Given the description of an element on the screen output the (x, y) to click on. 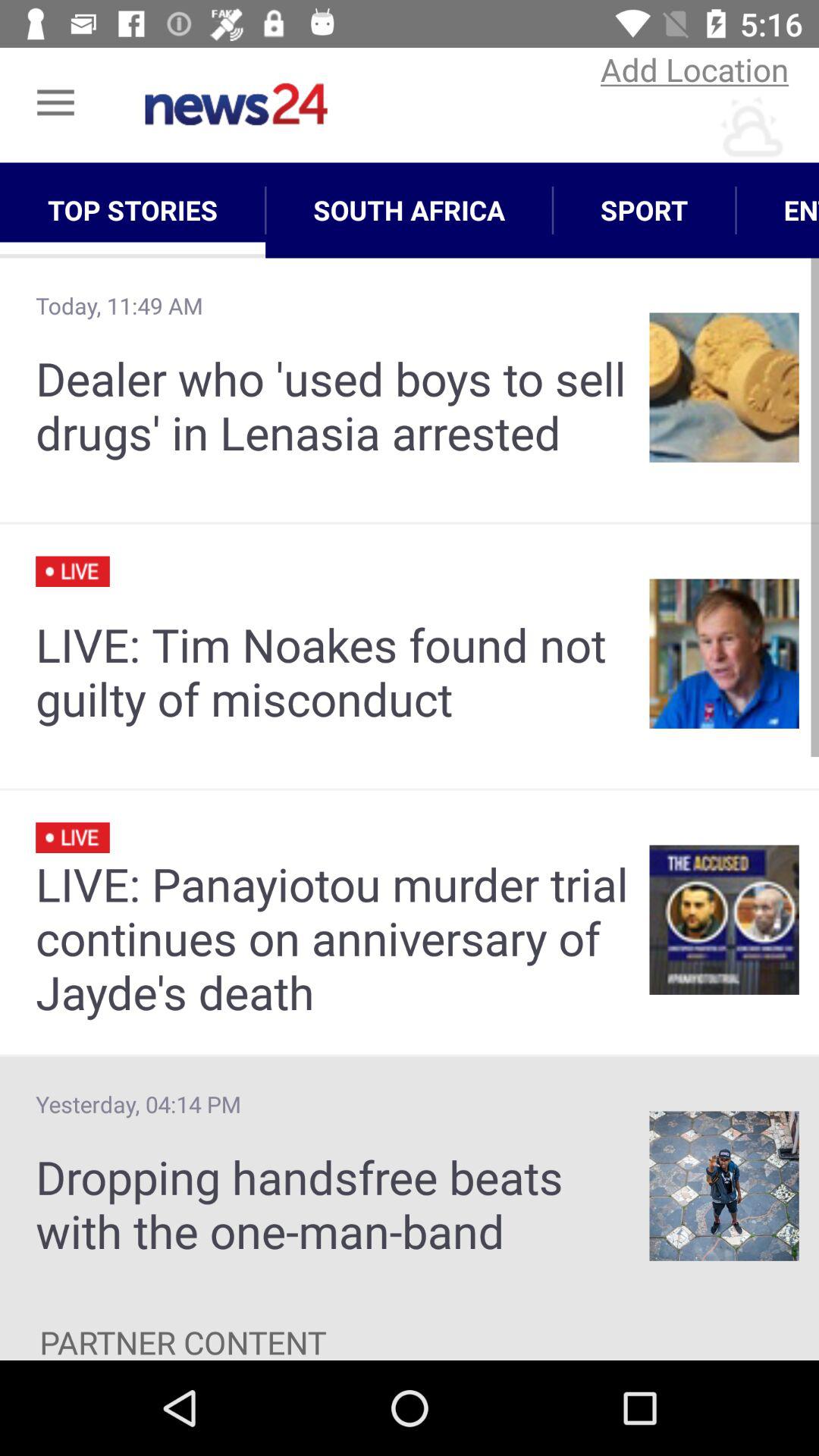
launch the icon above the dealer who used (408, 210)
